Given the description of an element on the screen output the (x, y) to click on. 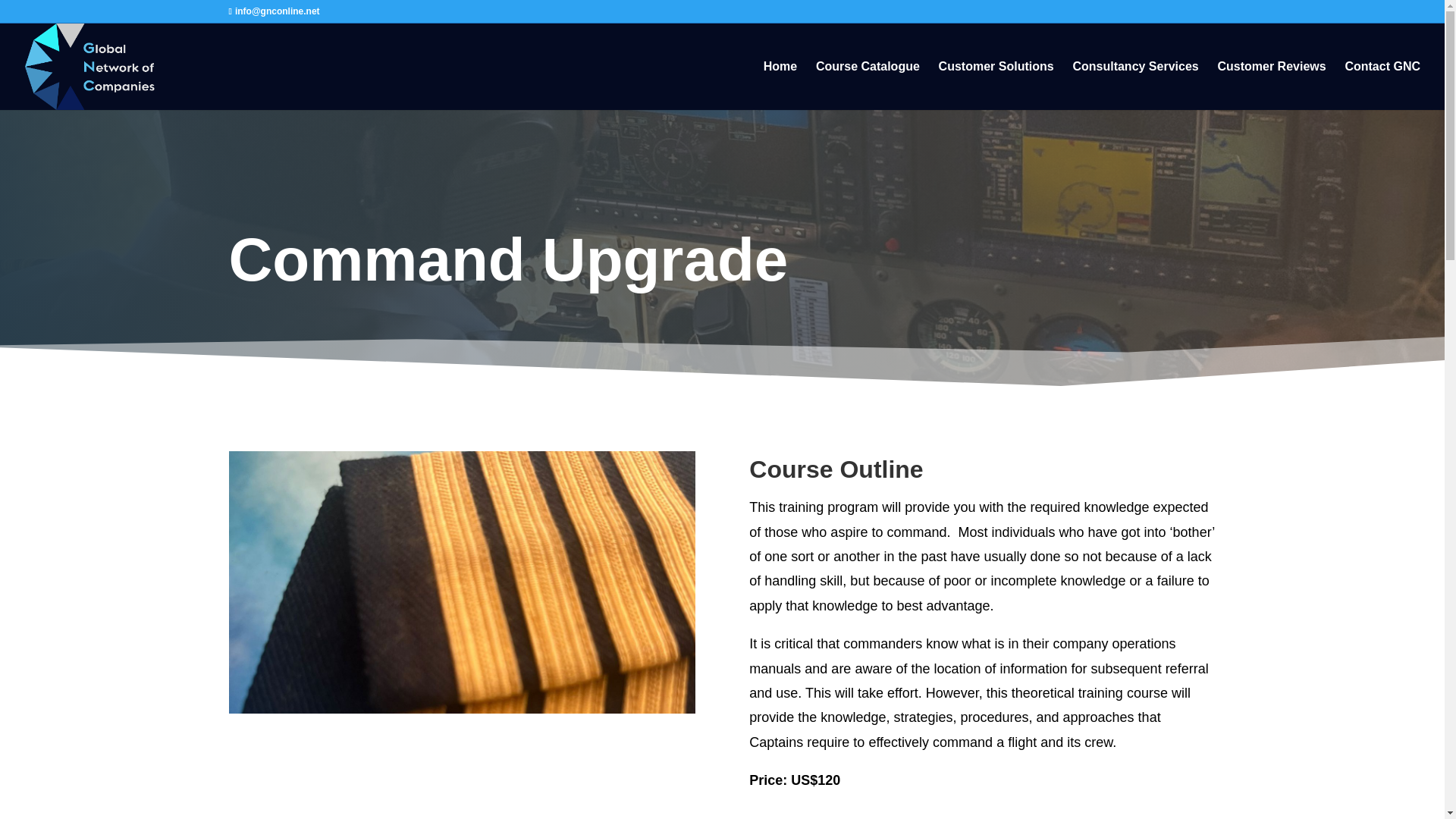
Customer Reviews (1270, 85)
CommandUpgrade (461, 582)
Consultancy Services (1134, 85)
Contact GNC (1382, 85)
Customer Solutions (996, 85)
Course Catalogue (867, 85)
